Given the description of an element on the screen output the (x, y) to click on. 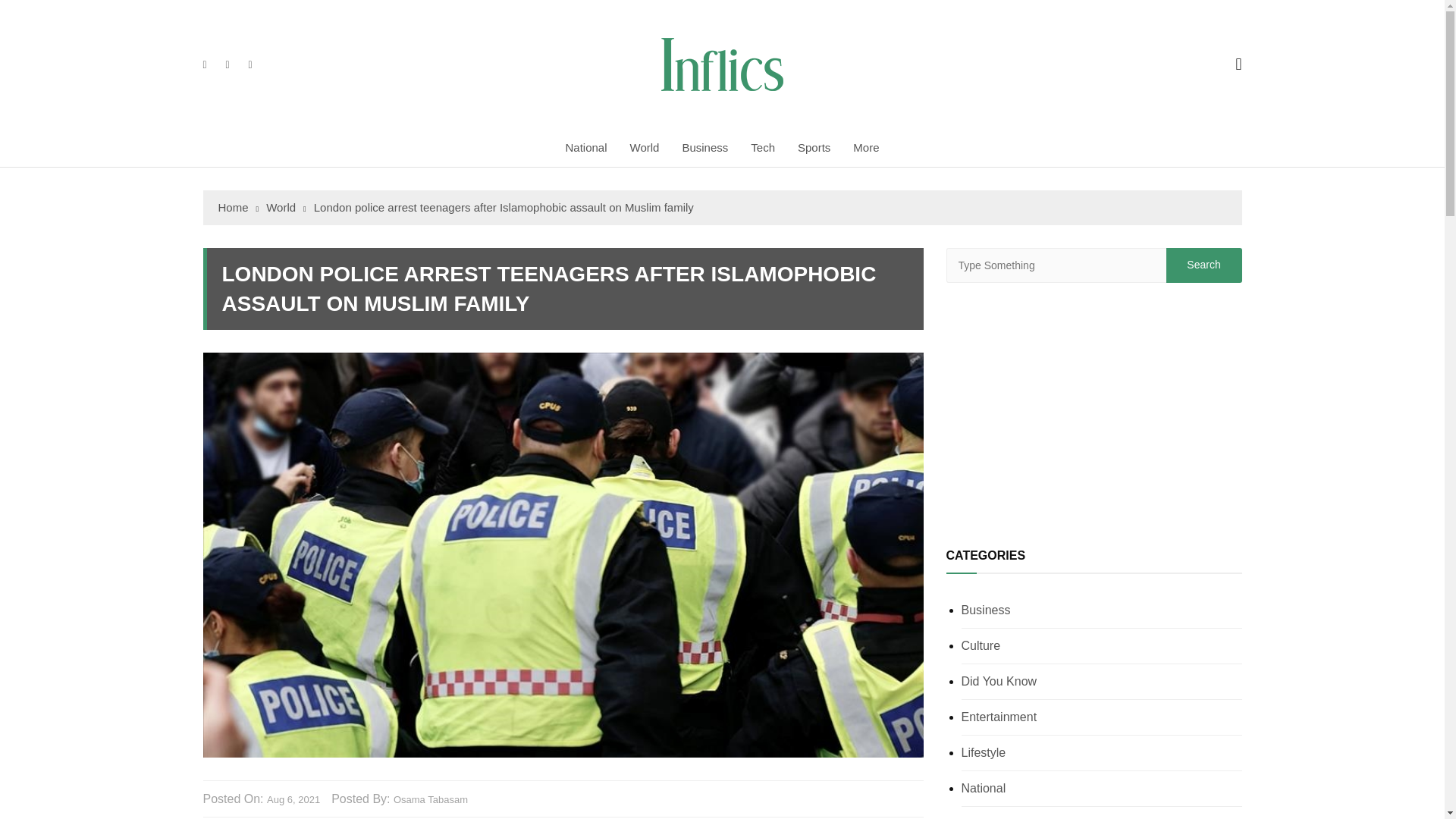
World (644, 147)
Home (238, 208)
More (865, 147)
Tech (762, 147)
Aug 6, 2021 (293, 800)
Osama Tabasam (430, 800)
World (285, 208)
Sports (813, 147)
Search (1203, 265)
